Given the description of an element on the screen output the (x, y) to click on. 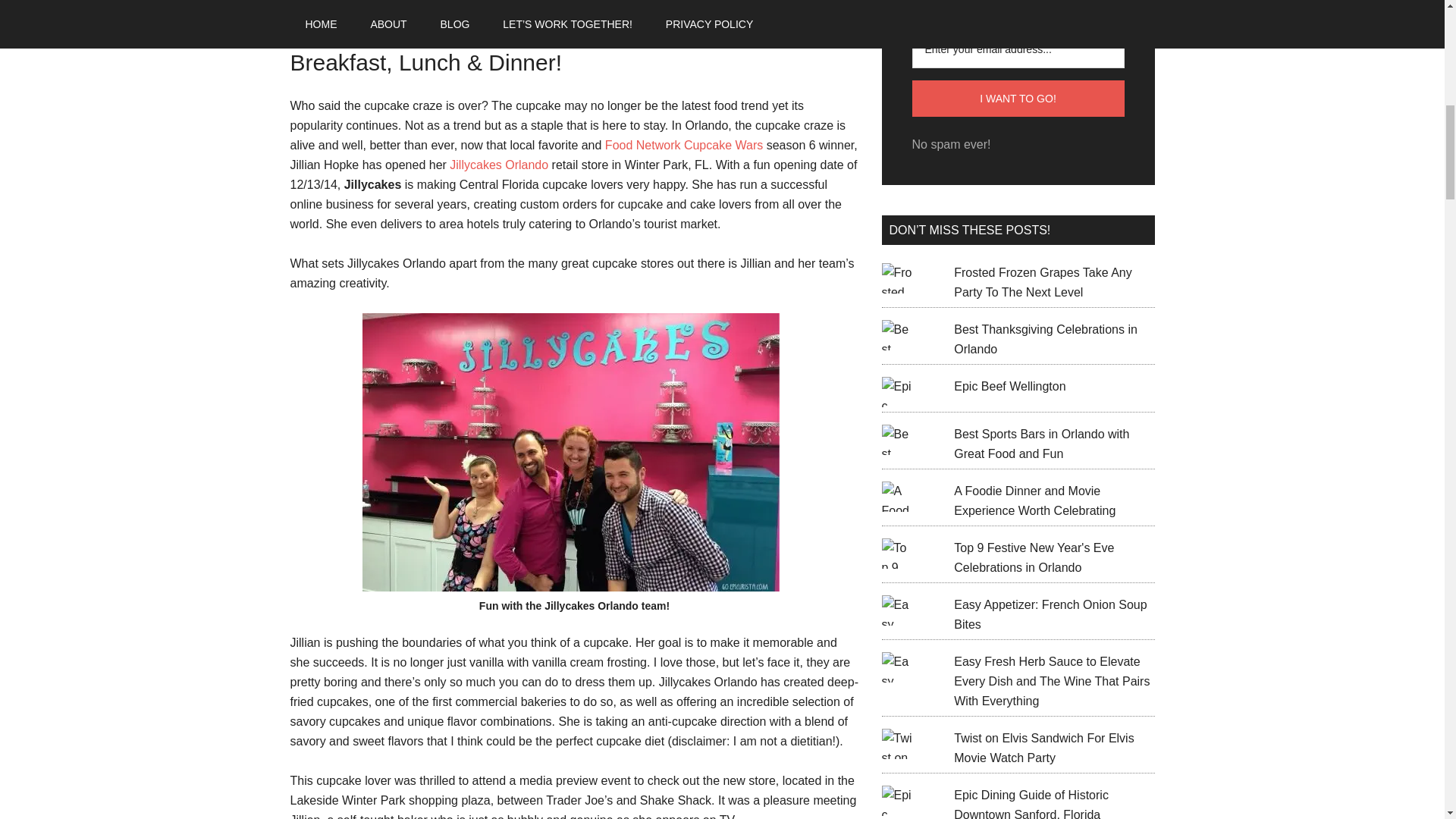
Jillycakes Orlando (498, 164)
I want to GO! (1017, 98)
Jillycakes Orlando (498, 164)
Best Thanksgiving Celebrations in Orlando (1045, 338)
Frosted Frozen Grapes Take Any Party To The Next Level (1042, 282)
Food Network Cupcake Wars (683, 144)
Food Network Cupcake Wars (683, 144)
